Given the description of an element on the screen output the (x, y) to click on. 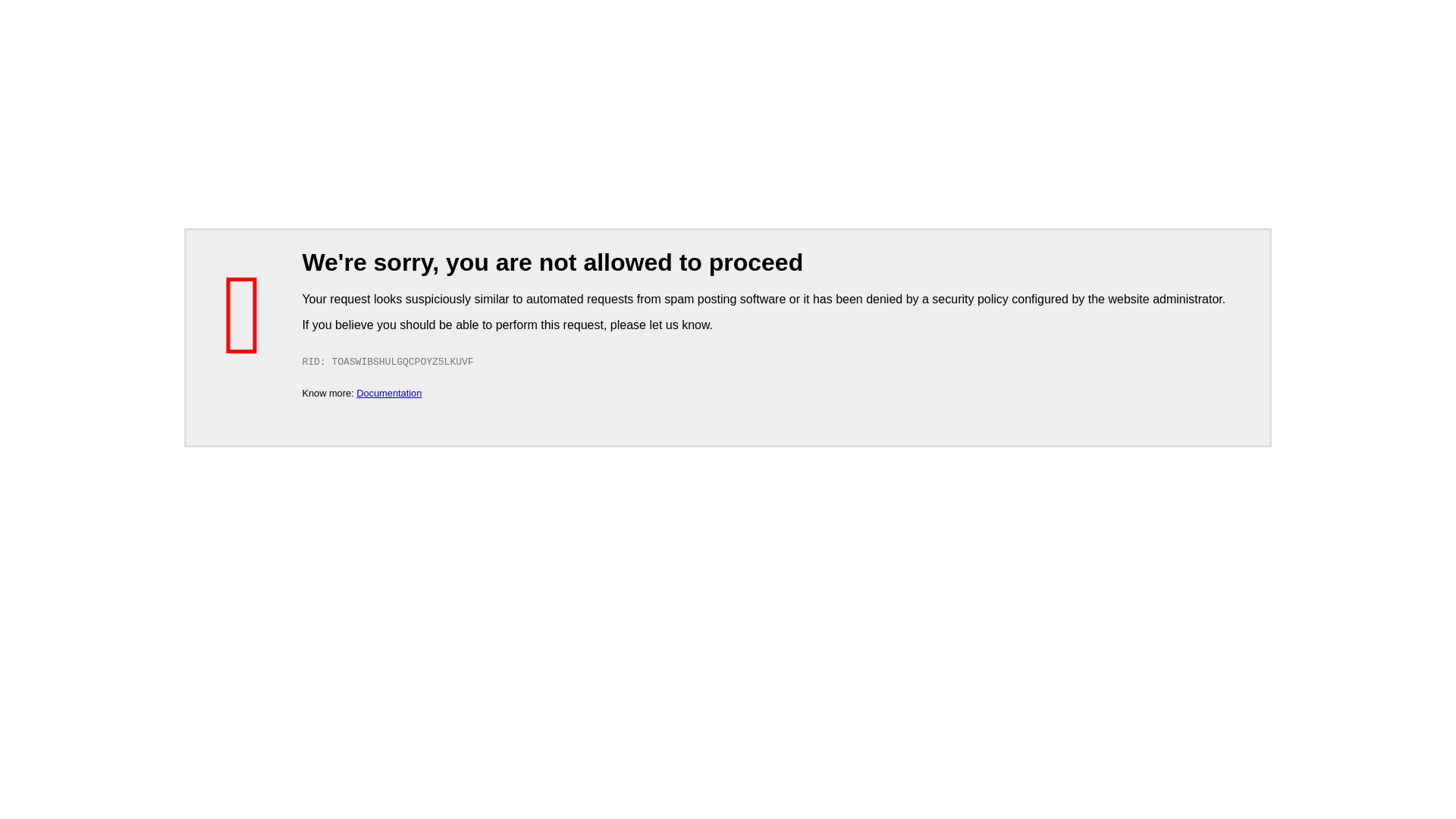
Documentation Element type: text (388, 392)
